Given the description of an element on the screen output the (x, y) to click on. 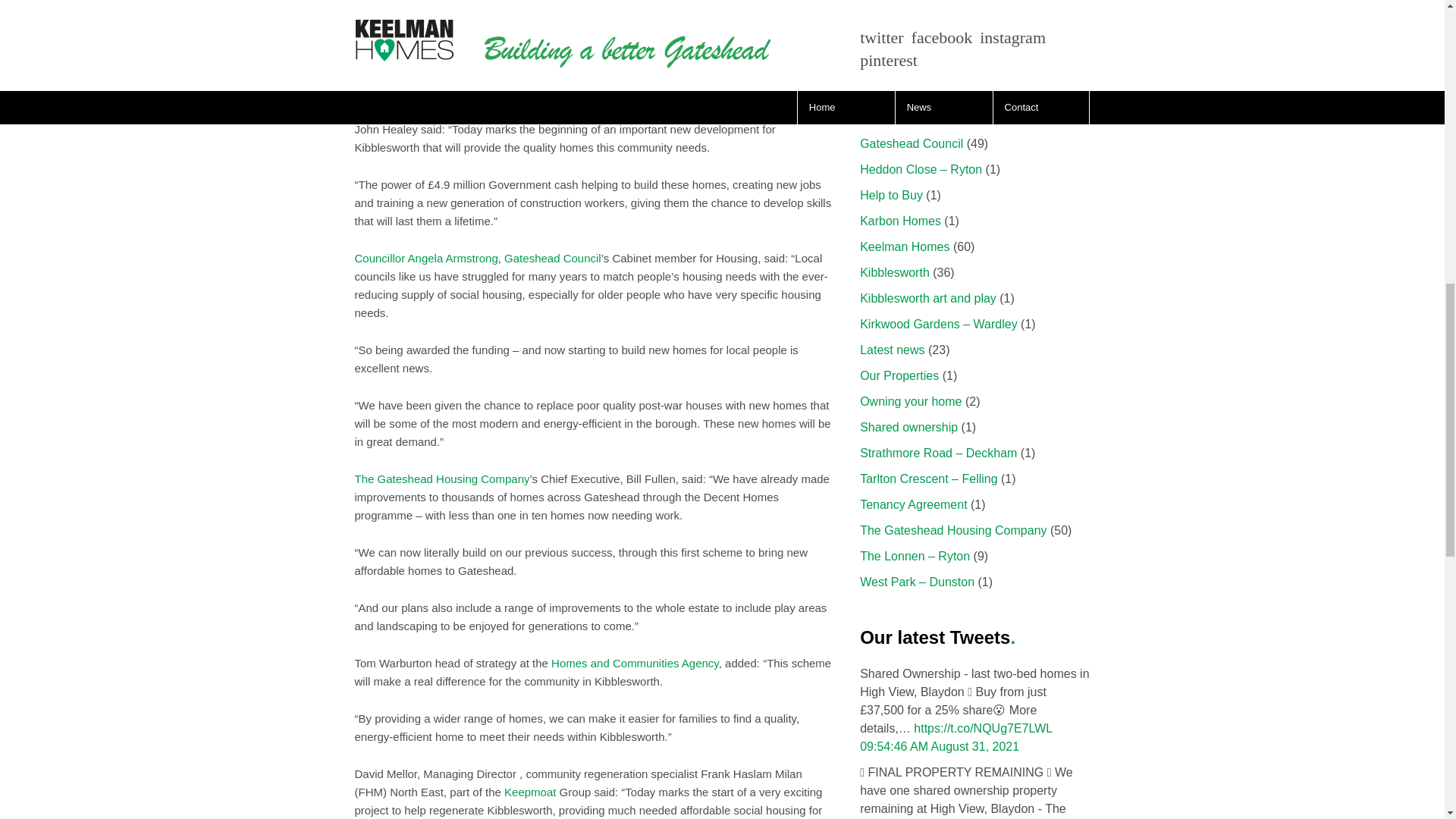
Councillor Angela Armstrong (426, 257)
Gateshead Council (552, 257)
Homes and Communities Agency (635, 662)
The Gateshead Housing Company (442, 478)
The Gateshead Housing Company (442, 478)
Gateshead Council (552, 257)
Keepmoat (496, 73)
Keepmoat (529, 791)
Keepmoat (529, 791)
HCA (635, 662)
Keepmoat (496, 73)
Councillor Angela Armstrong (426, 257)
